Given the description of an element on the screen output the (x, y) to click on. 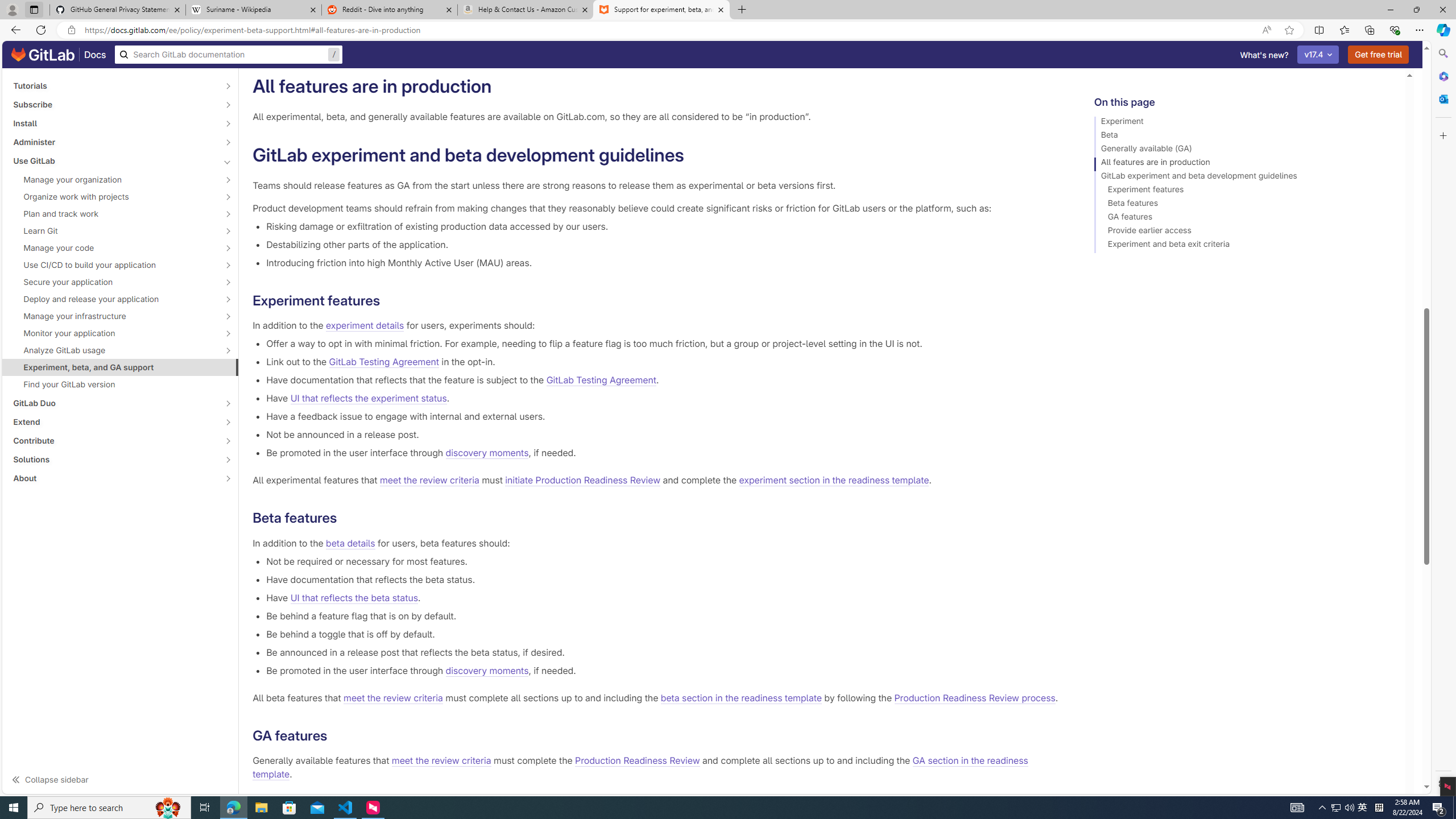
Beta (1244, 136)
Extend (113, 421)
Have UI that reflects the beta status. (662, 597)
Help & Contact Us - Amazon Customer Service - Sleeping (525, 9)
Experiment and beta exit criteria (1244, 246)
Deploy and release your application (113, 298)
Have UI that reflects the experiment status. (662, 398)
Experiment features (1244, 191)
